Given the description of an element on the screen output the (x, y) to click on. 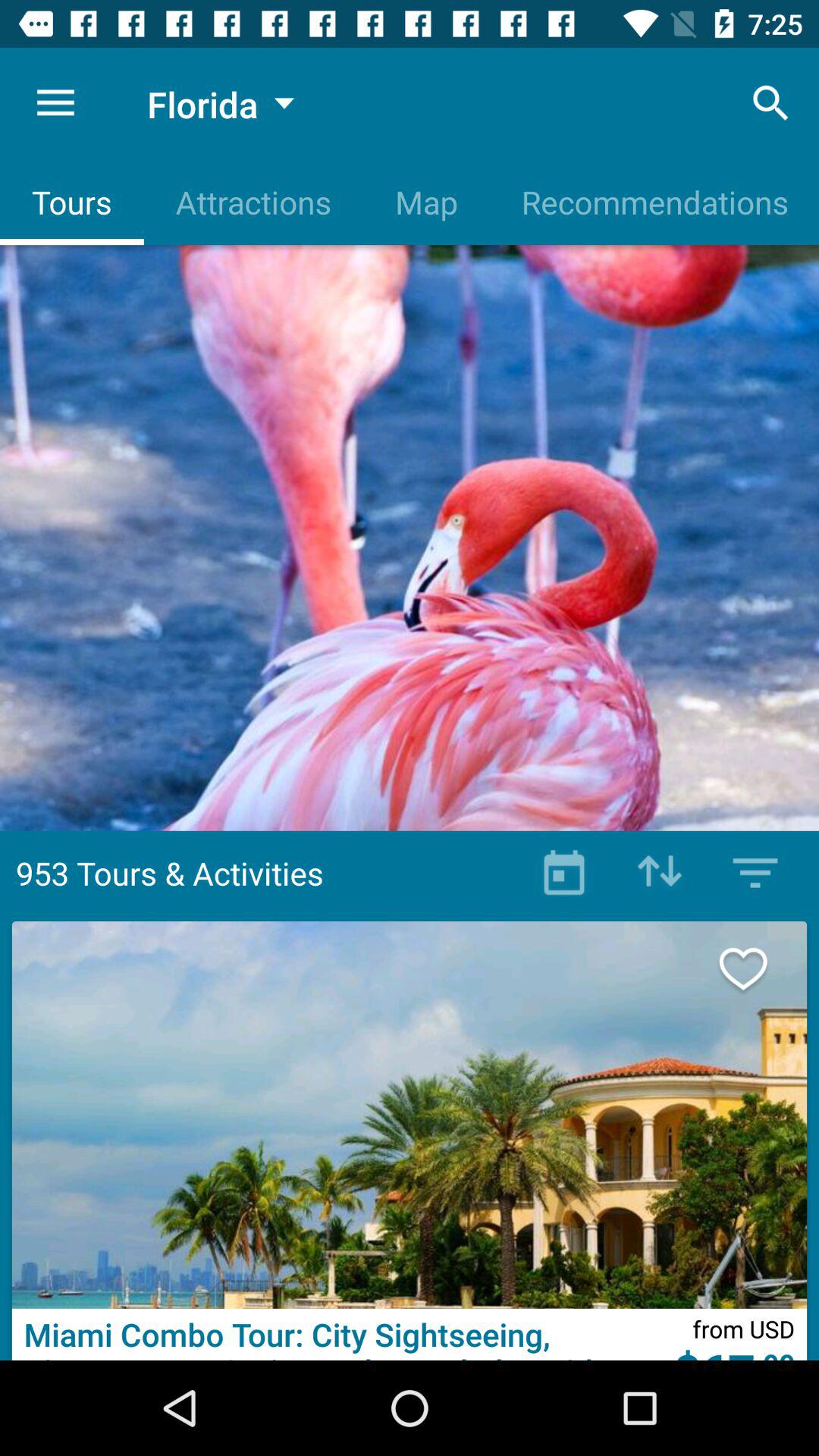
add to favorites (759, 969)
